Given the description of an element on the screen output the (x, y) to click on. 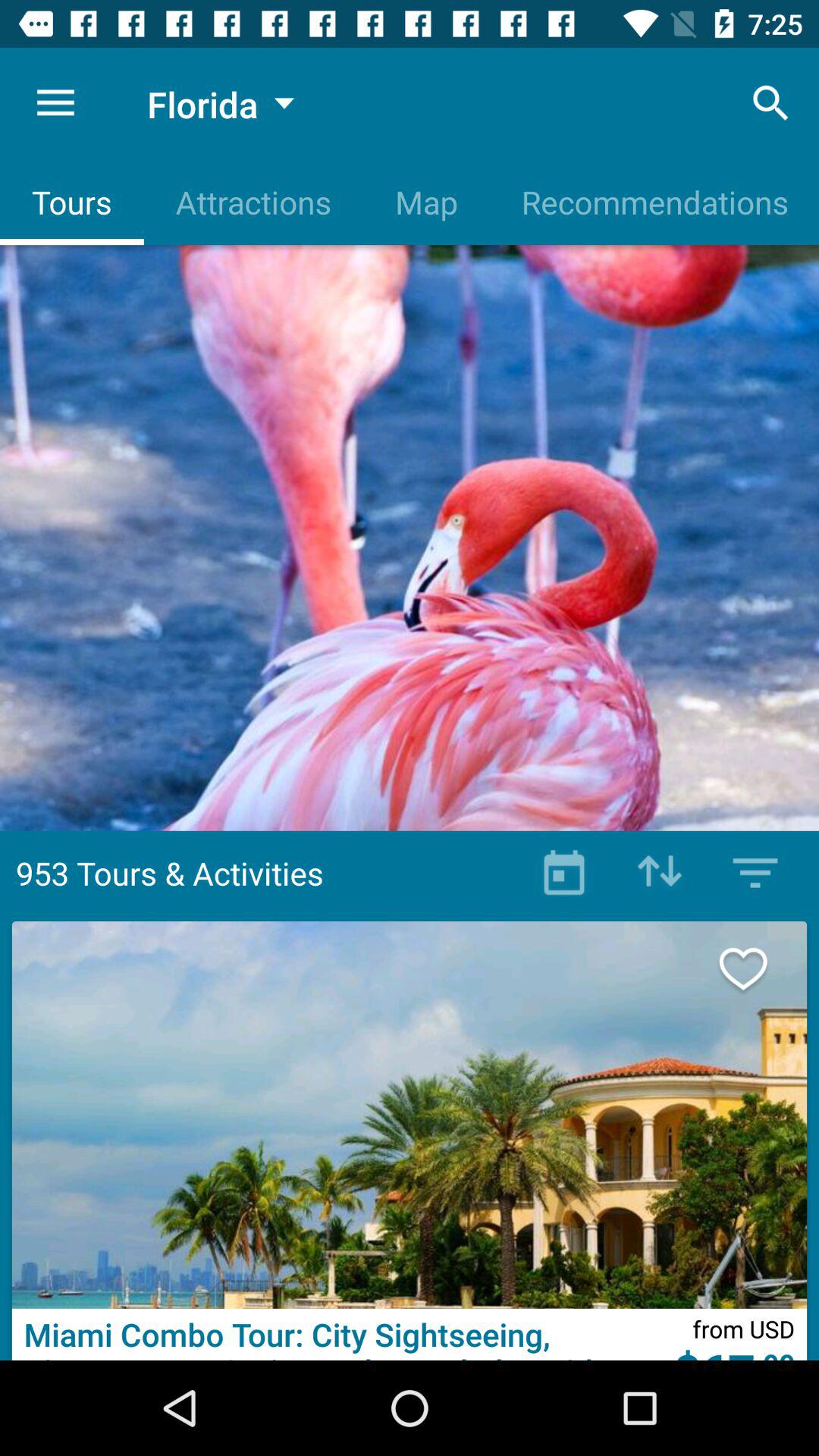
add to favorites (759, 969)
